Given the description of an element on the screen output the (x, y) to click on. 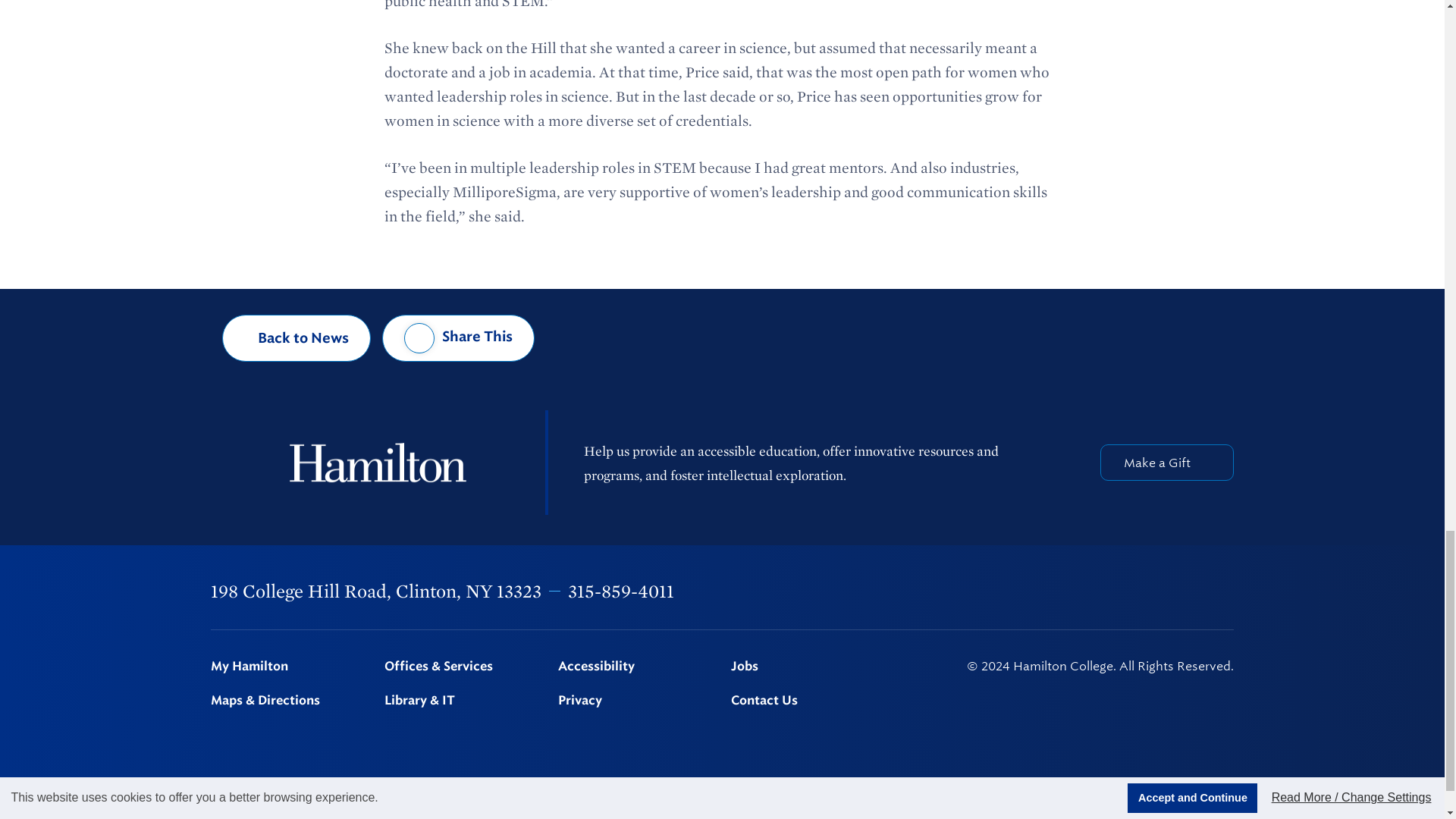
TikTok (1226, 591)
Share This (457, 337)
Facebook (1029, 591)
Make a Gift (1166, 462)
Linkedin (1149, 591)
315-859-4011 (620, 590)
198 College Hill Road, Clinton, NY 13323 (375, 590)
Youtube (1188, 591)
Twitter (1069, 591)
Instagram (1109, 591)
Back to News (296, 337)
